Given the description of an element on the screen output the (x, y) to click on. 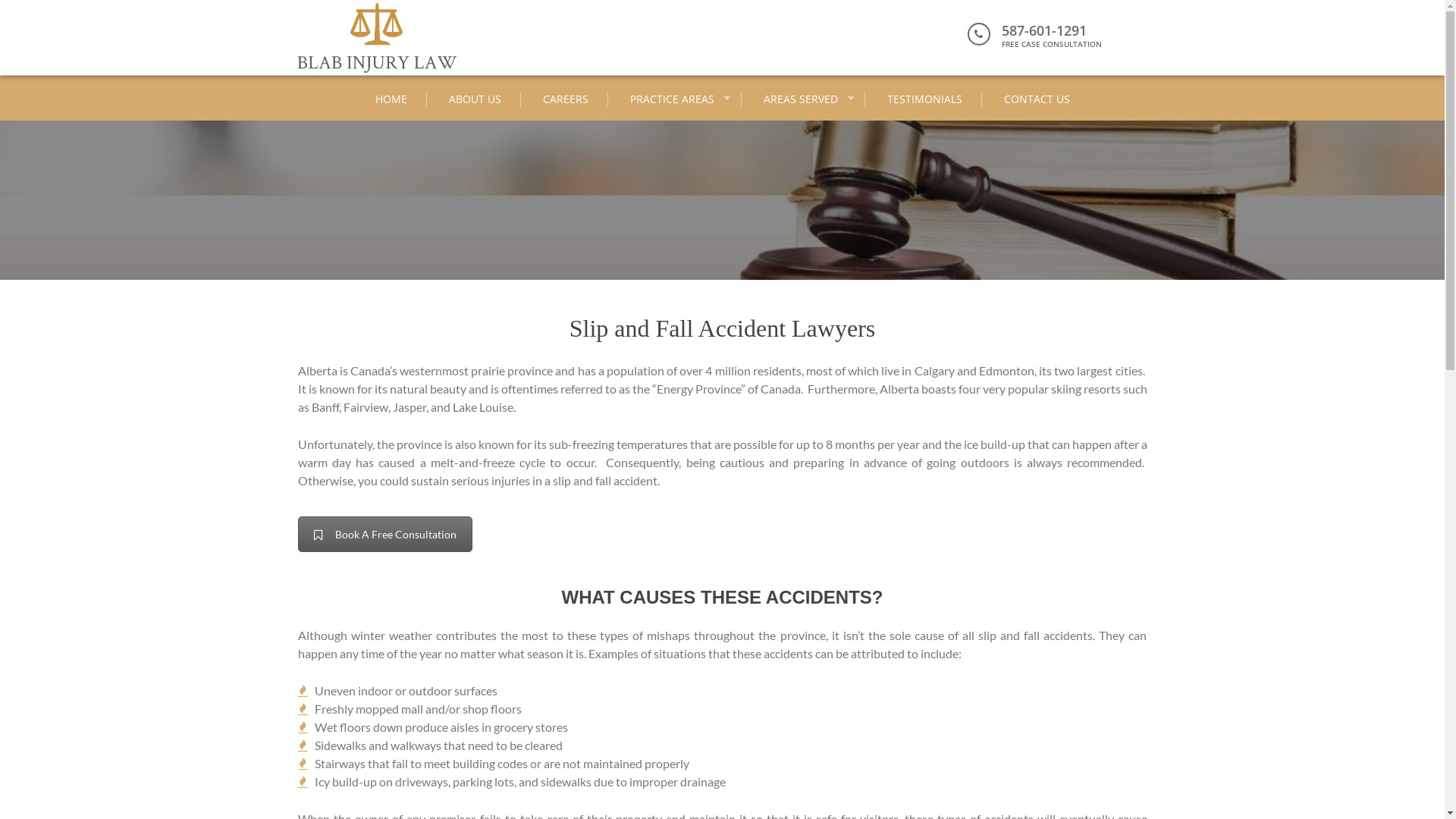
CAREERS Element type: text (565, 98)
HOME Element type: text (391, 98)
AREAS SERVED Element type: text (804, 98)
Book A Free Consultation Element type: text (384, 534)
CONTACT US Element type: text (1036, 98)
PRACTICE AREAS Element type: text (676, 98)
TESTIMONIALS Element type: text (924, 98)
ABOUT US Element type: text (474, 98)
